Given the description of an element on the screen output the (x, y) to click on. 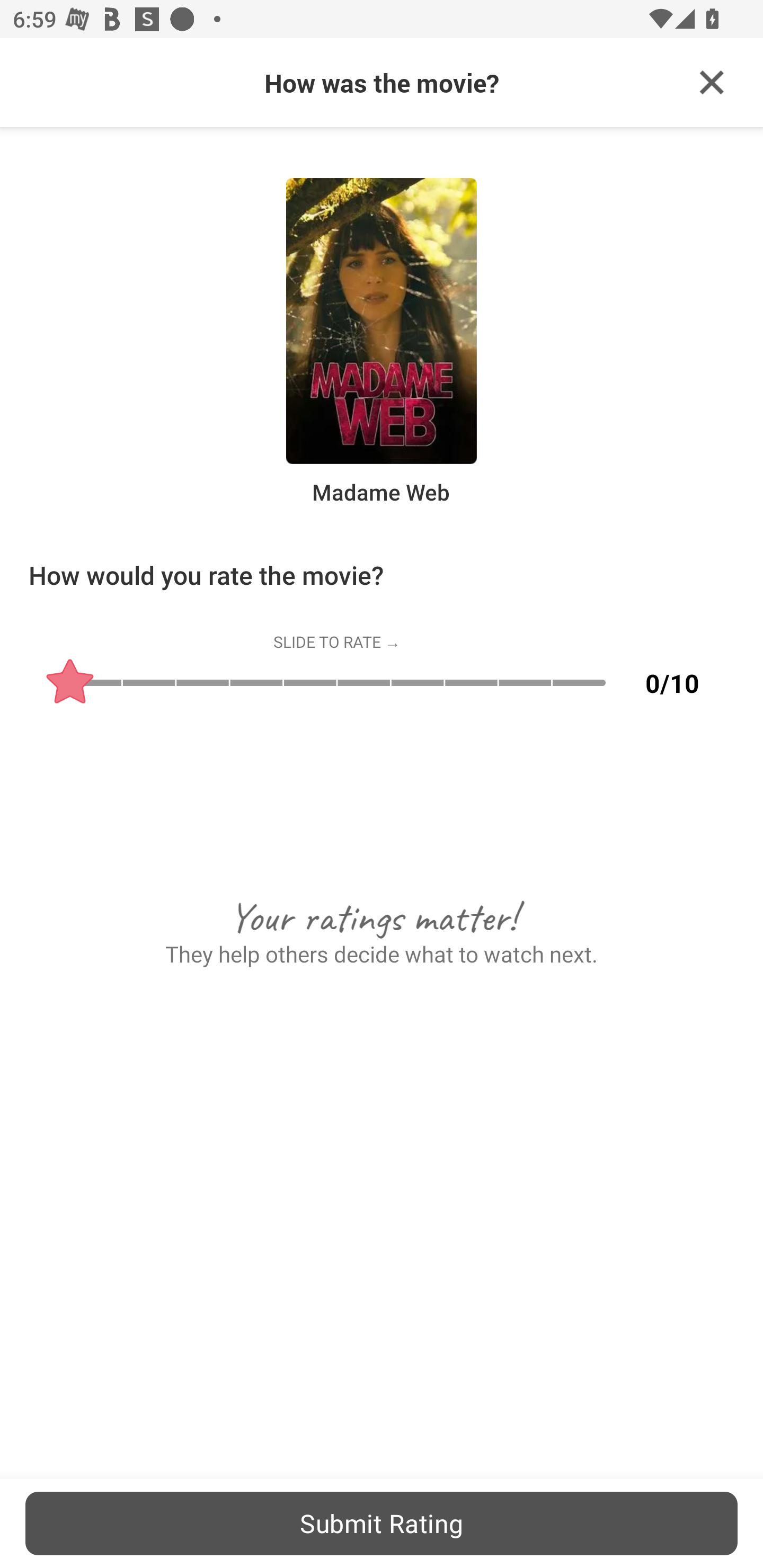
Close (711, 82)
Submit Rating (381, 1523)
